Given the description of an element on the screen output the (x, y) to click on. 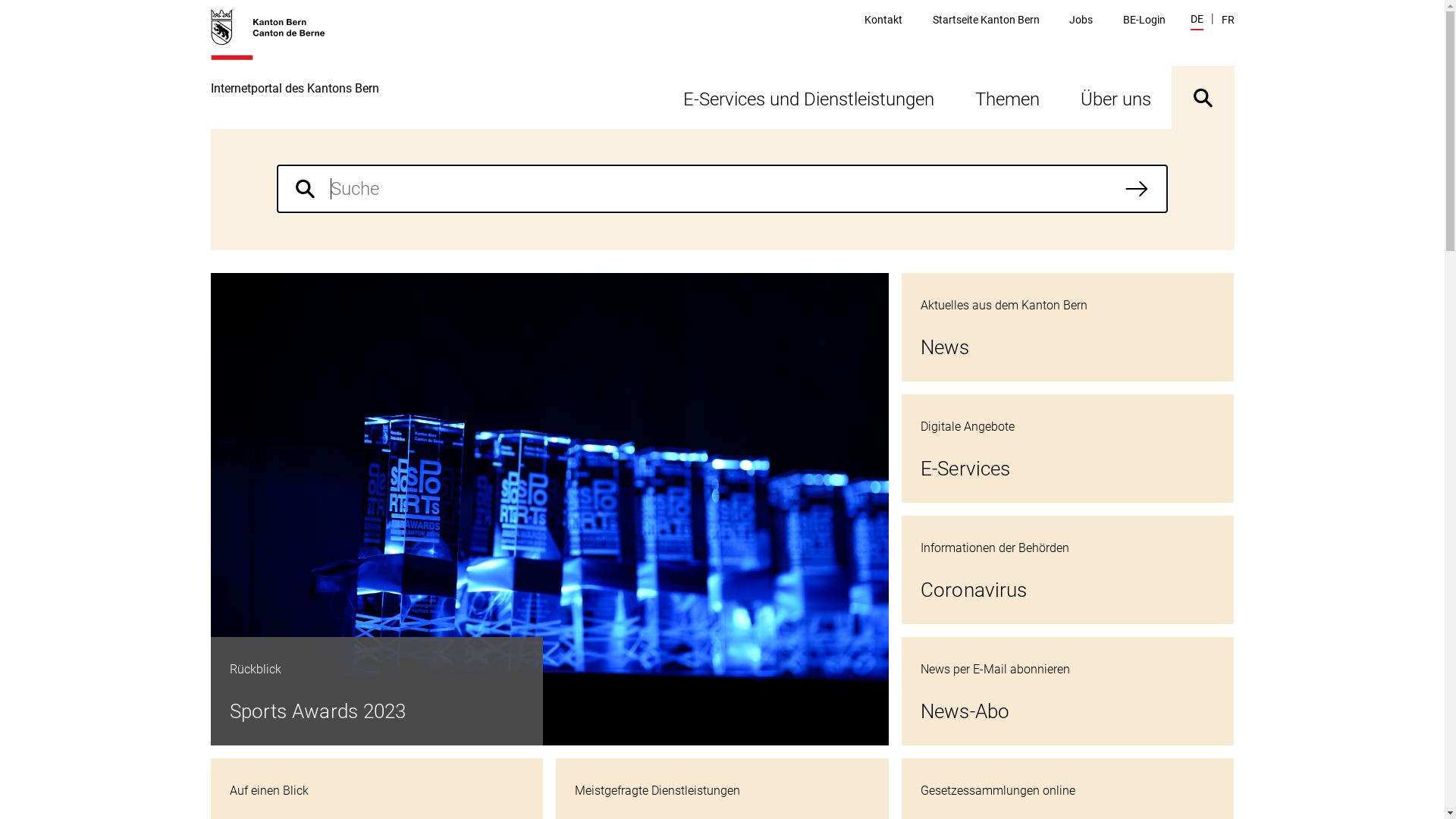
BE-Login Element type: text (1144, 19)
Internetportal des Kantons Bern Element type: text (294, 68)
Kontakt Element type: text (883, 19)
News-Abo  
News per E-Mail abonnieren Element type: text (1067, 691)
FR Element type: text (1226, 19)
Suchen Element type: text (1136, 188)
DE Element type: text (1196, 21)
E-Services und Dienstleistungen Element type: text (808, 96)
Suche ein- oder ausblenden Element type: text (1201, 96)
Jobs Element type: text (1080, 19)
E-Services
Digitale Angebote Element type: text (1067, 448)
Startseite Kanton Bern Element type: text (985, 19)
News
Aktuelles aus dem Kanton Bern Element type: text (1067, 327)
Themen Element type: text (1006, 96)
